Given the description of an element on the screen output the (x, y) to click on. 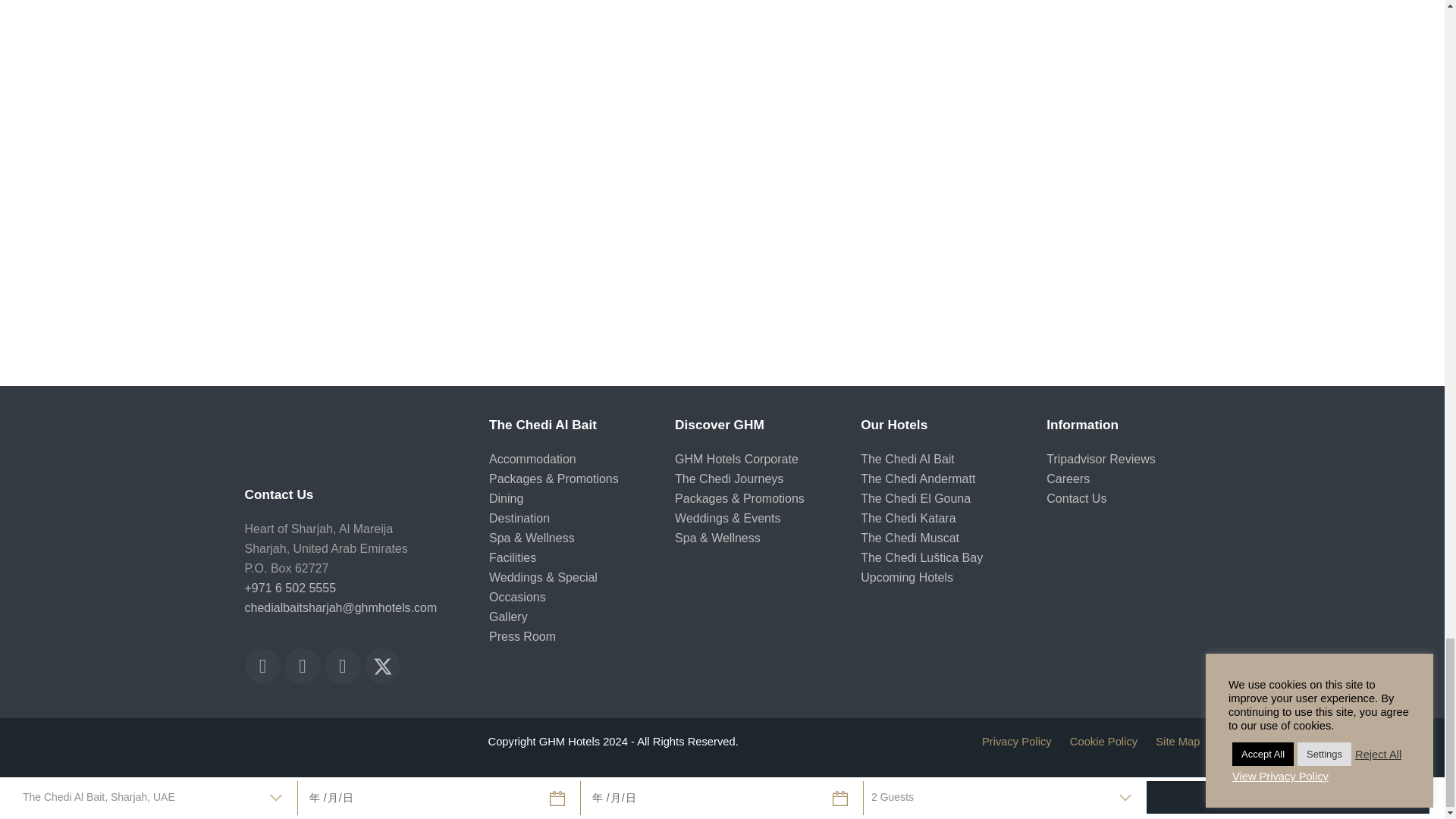
LinkedIn (342, 666)
Facebook (301, 666)
Instagram (262, 666)
X Twitter (383, 666)
